Given the description of an element on the screen output the (x, y) to click on. 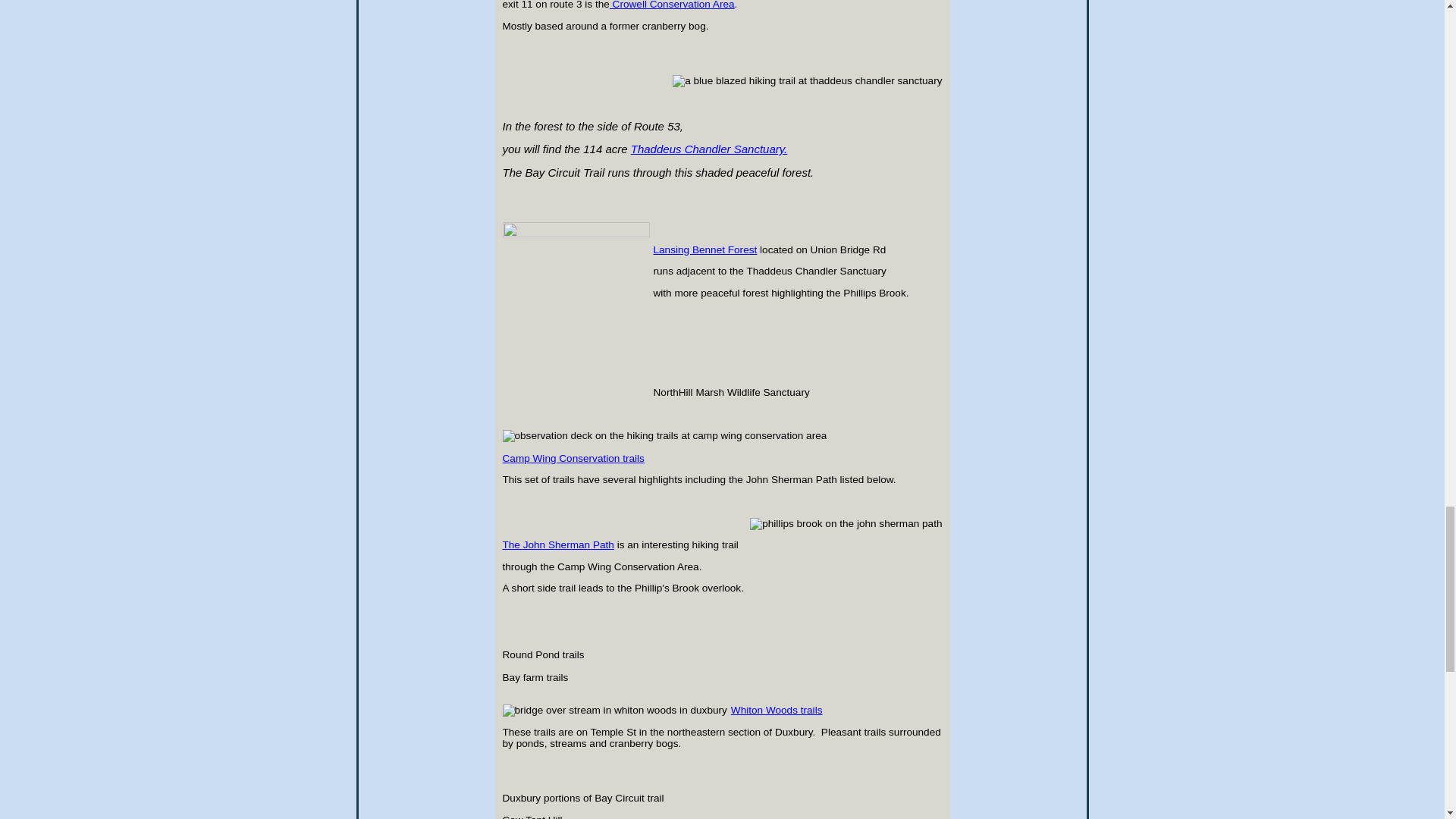
Whiton Woods trails (776, 709)
a blue blazed hiking trail at thaddeus chandler sanctuary (807, 80)
Thaddeus Chandler Sanctuary. (708, 149)
Camp Wing Conservation trails (665, 463)
Lansing Bennet Forest (705, 249)
The John Sherman Path (557, 544)
bridge over stream in whiton woods in duxbury (614, 710)
Crowell Conservation Area (672, 4)
phillips brook on the john sherman path (845, 523)
